Given the description of an element on the screen output the (x, y) to click on. 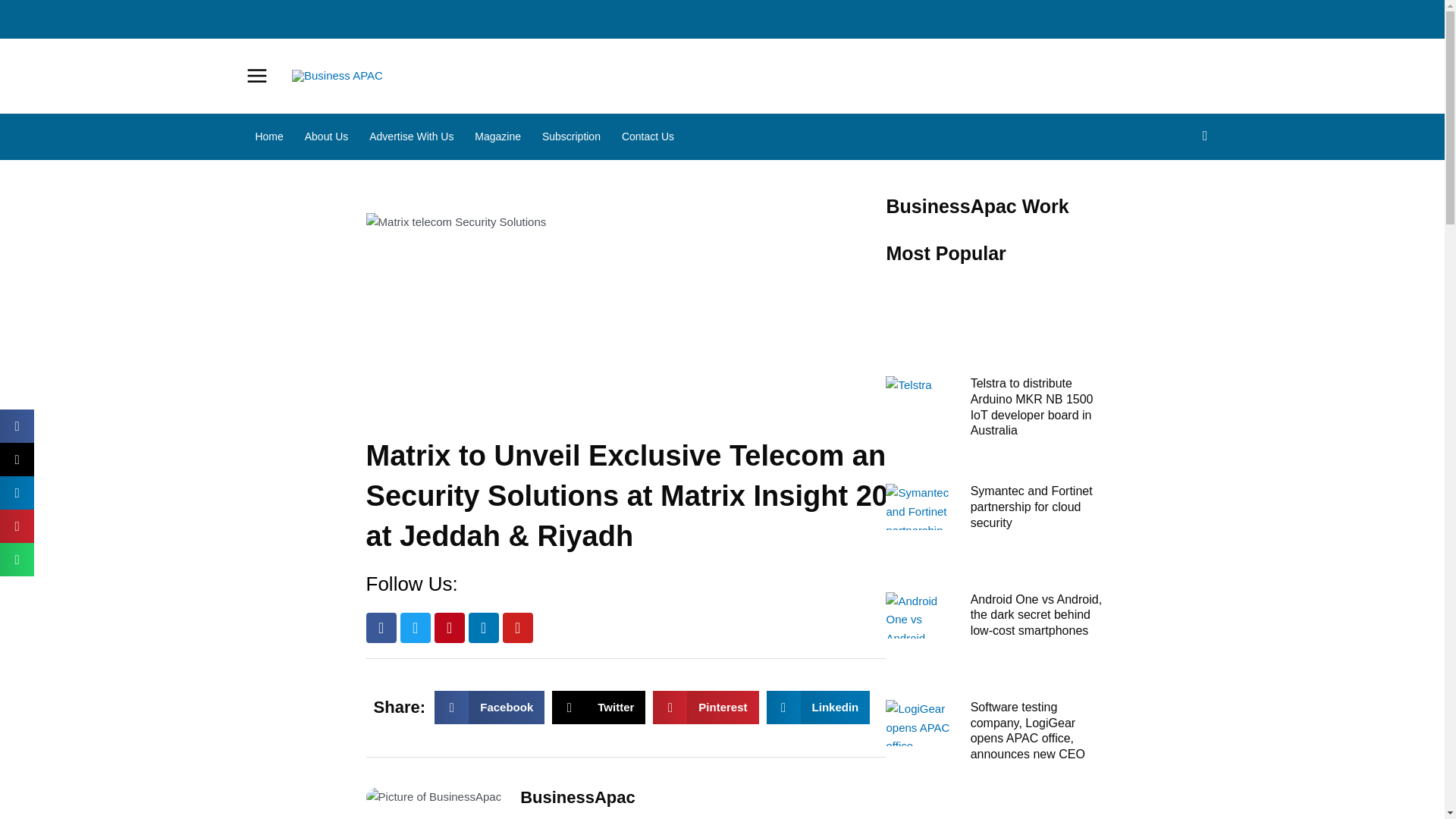
Twitter (415, 627)
Subscription (571, 135)
Magazine (489, 707)
Facebook (818, 707)
Advertise With Us (497, 135)
Symantec and Fortinet partnership for cloud security (598, 707)
Youtube (381, 627)
Linkedin (411, 135)
Contact Us (1032, 506)
Main Menu (517, 627)
